Given the description of an element on the screen output the (x, y) to click on. 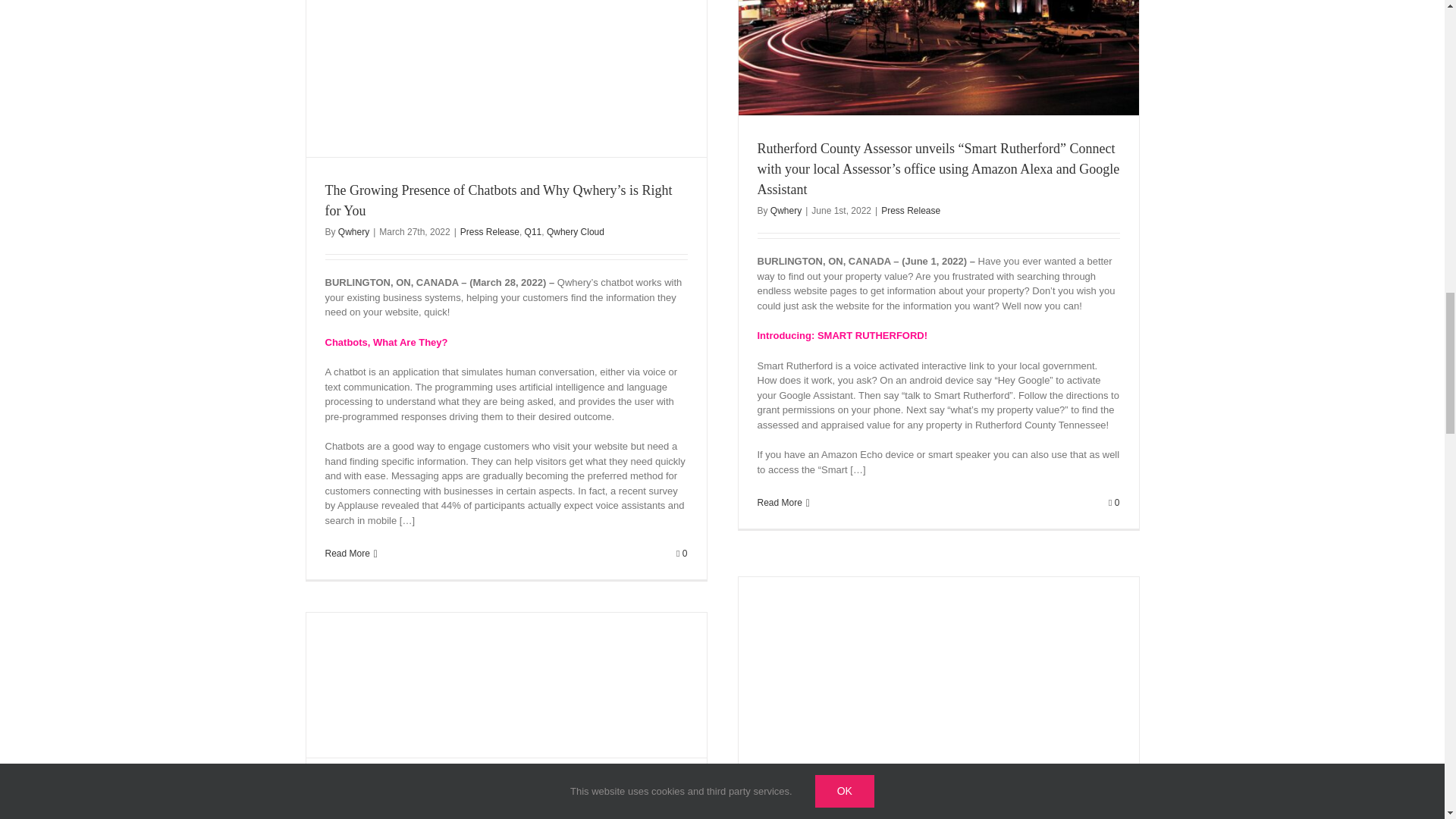
Posts by Qwhery (353, 231)
Posts by Qwhery (786, 210)
Posts by Qwhery (353, 811)
